Given the description of an element on the screen output the (x, y) to click on. 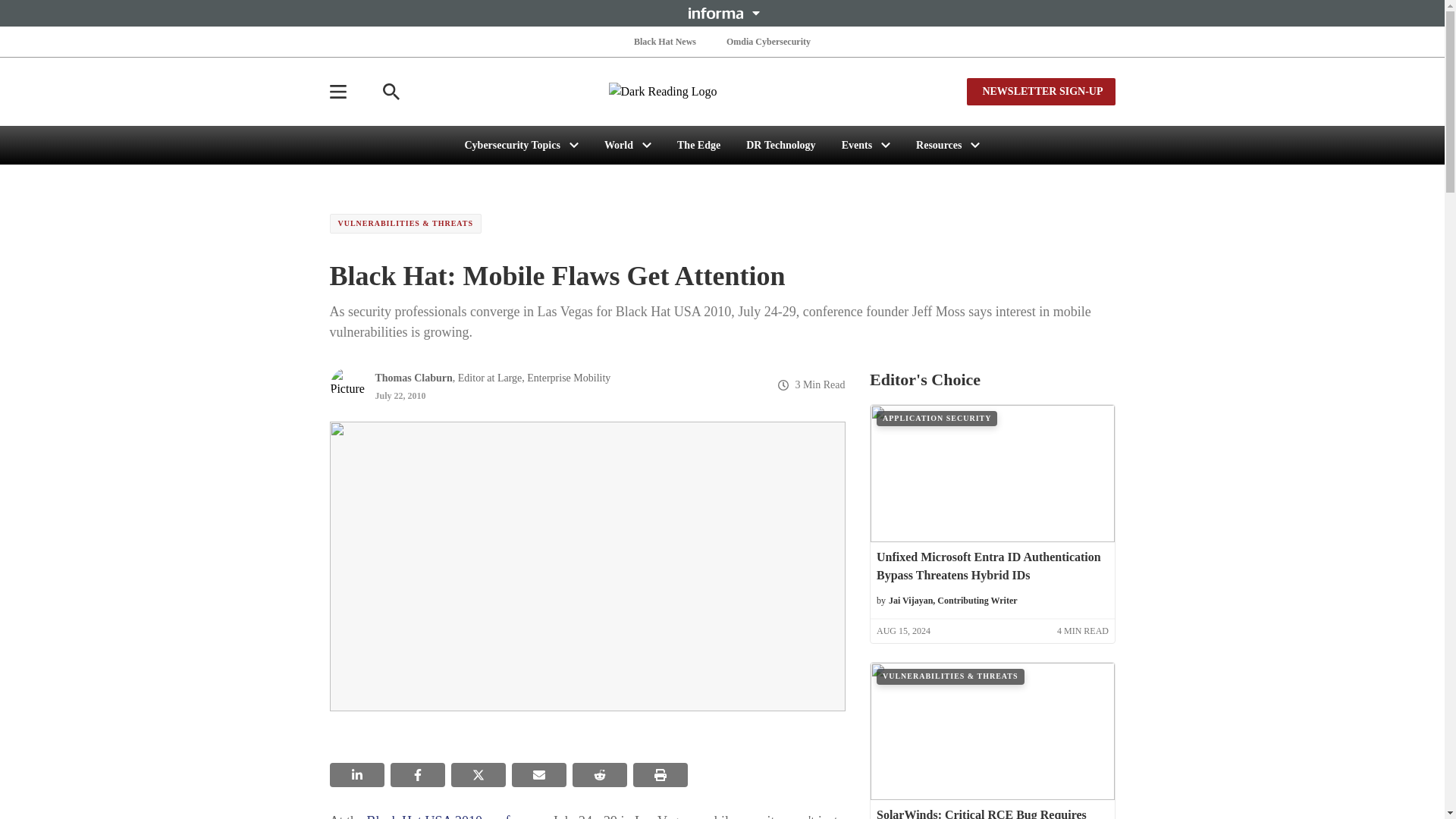
Dark Reading Logo (721, 91)
Picture of Thomas Claburn (347, 384)
NEWSLETTER SIGN-UP (1040, 90)
Black Hat News (664, 41)
Omdia Cybersecurity (768, 41)
